Given the description of an element on the screen output the (x, y) to click on. 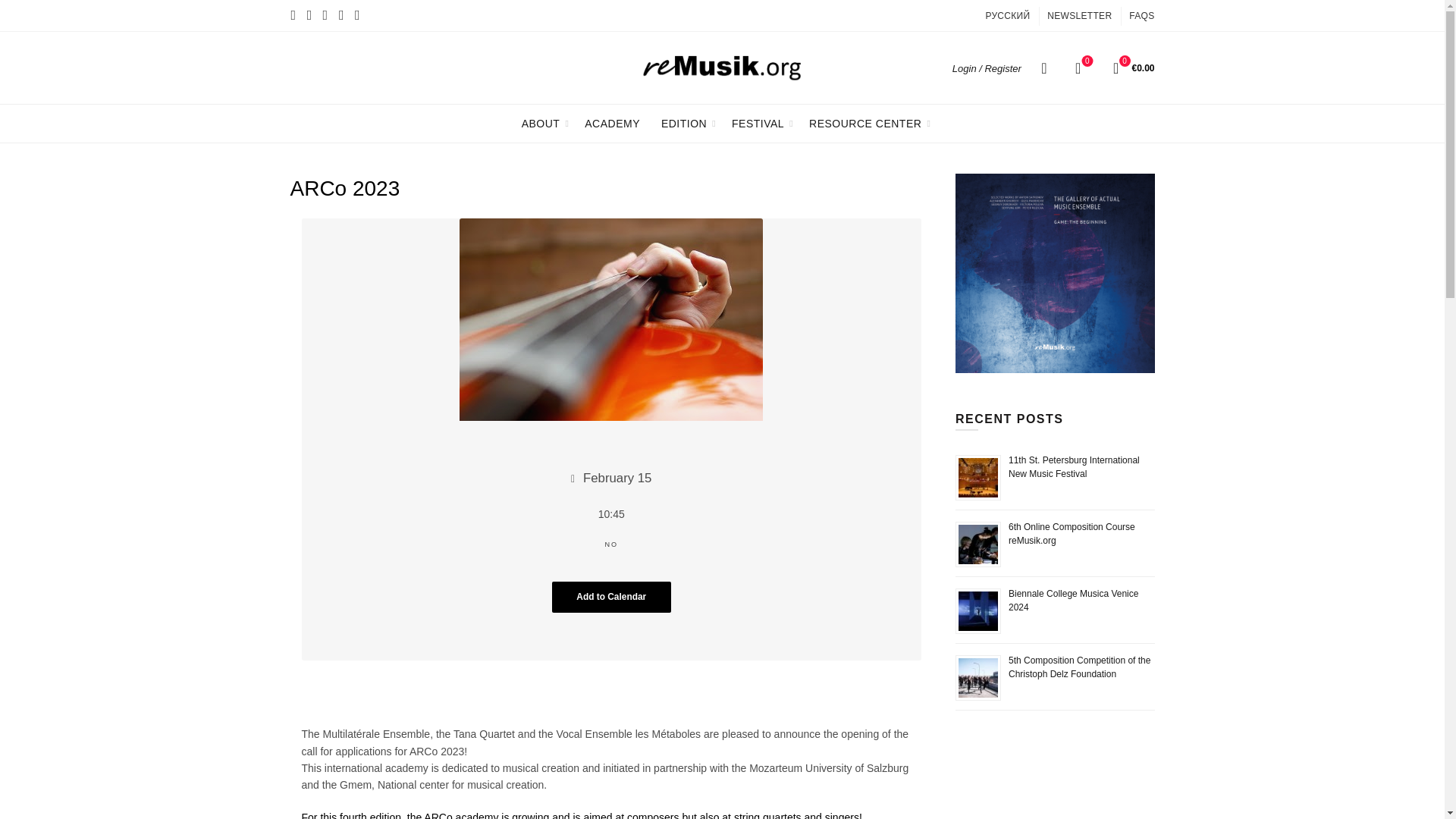
NEWSLETTER (1079, 15)
FAQS (1078, 67)
